Given the description of an element on the screen output the (x, y) to click on. 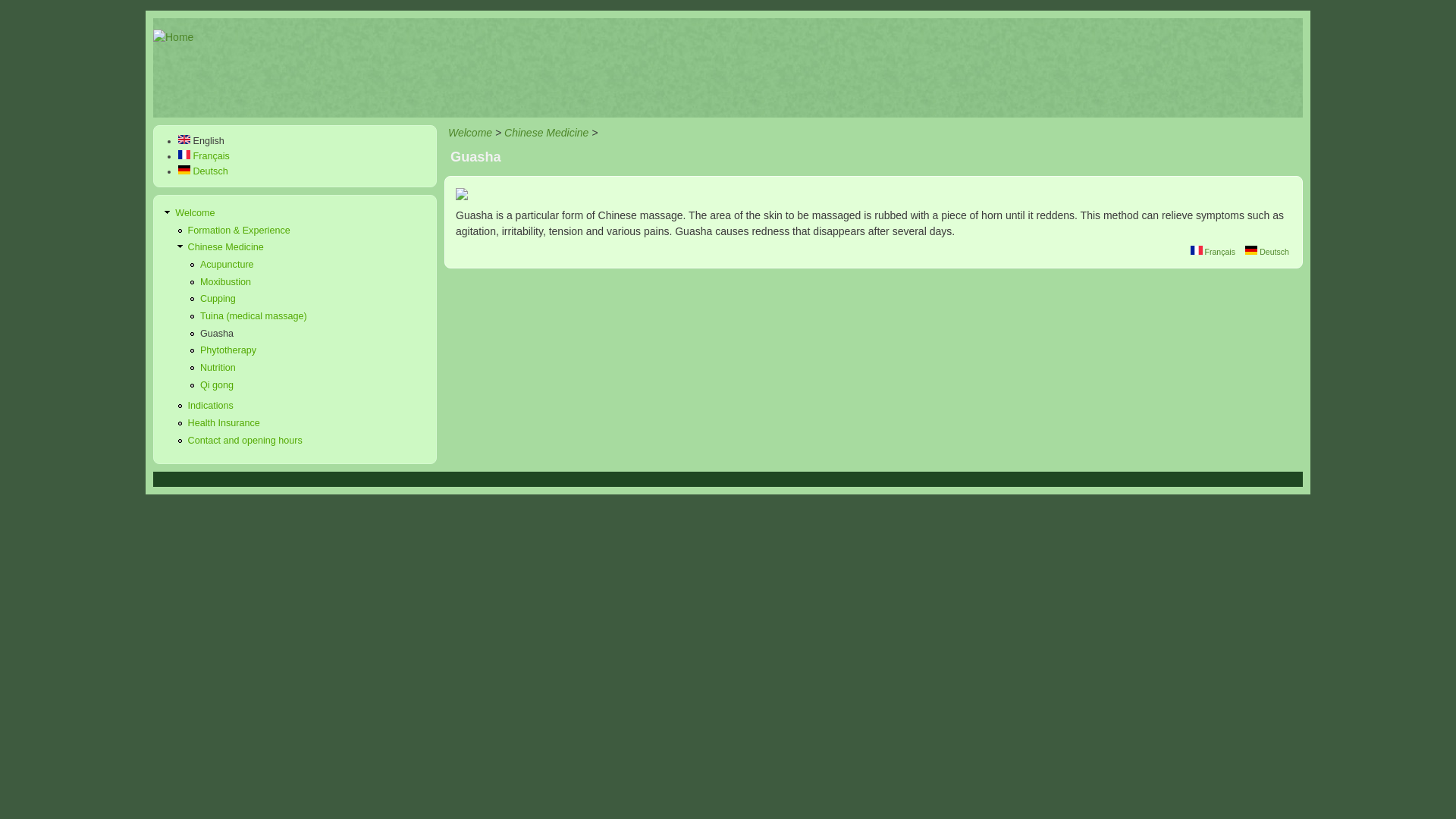
Nutrition Element type: text (217, 367)
English Element type: hover (184, 139)
Formation & Experience Element type: text (239, 230)
Tuina (medical massage) Element type: text (253, 315)
Guasha Element type: text (216, 333)
English Element type: text (201, 140)
Home Element type: hover (173, 37)
Welcome Element type: text (194, 212)
Welcome Element type: text (470, 132)
Deutsch Element type: hover (184, 169)
Deutsch Element type: text (203, 171)
Contact and opening hours Element type: text (245, 440)
Moxibustion Element type: text (225, 281)
Qi gong Element type: text (216, 384)
Health Insurance Element type: text (224, 422)
Skip to main content Element type: text (48, 10)
Acupuncture Element type: text (227, 264)
Deutsch Element type: hover (1251, 249)
Phytotherapy Element type: text (228, 350)
Cupping Element type: text (217, 298)
Chinese Medicine Element type: text (225, 246)
Indications Element type: text (210, 405)
Deutsch Element type: text (1266, 251)
Chinese Medicine Element type: text (546, 132)
